Given the description of an element on the screen output the (x, y) to click on. 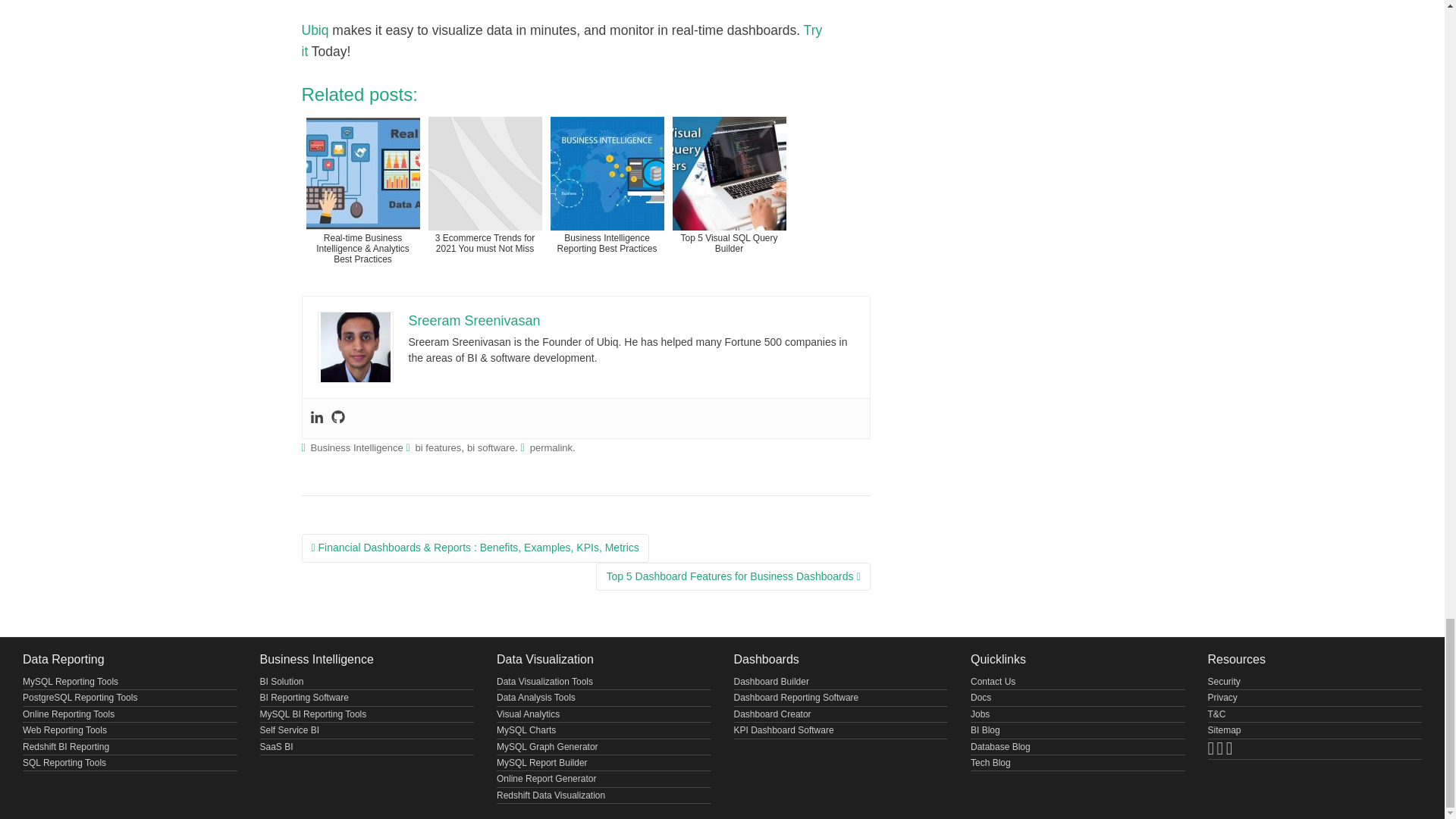
MySQL Reporting Tools (70, 681)
PostgreSQL Reporting Tools (79, 697)
BI Reporting Software (303, 697)
Sreeram Sreenivasan (473, 320)
permalink (550, 447)
Ubiq (315, 29)
Redshift BI Reporting (66, 747)
bi software (491, 447)
Business Intelligence (357, 447)
Web Reporting Tools (64, 729)
